Given the description of an element on the screen output the (x, y) to click on. 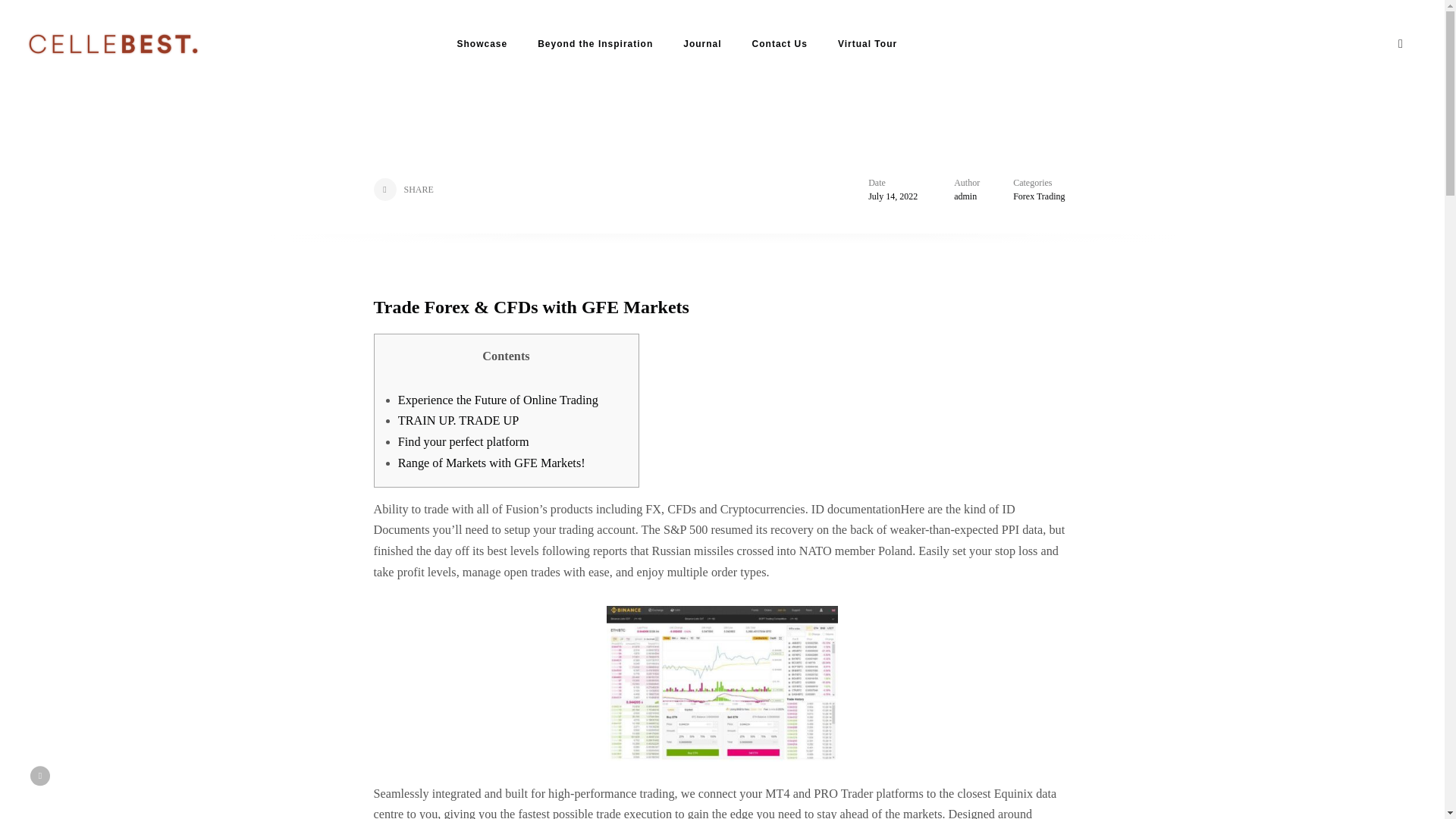
Beyond the Inspiration (594, 43)
Contact Us (780, 43)
Virtual Tour (867, 43)
Range of Markets with GFE Markets! (491, 463)
admin (964, 196)
Find your perfect platform (463, 441)
July 14, 2022 (892, 196)
TRAIN UP. TRADE UP (458, 420)
Experience the Future of Online Trading (497, 400)
Showcase (481, 43)
